Given the description of an element on the screen output the (x, y) to click on. 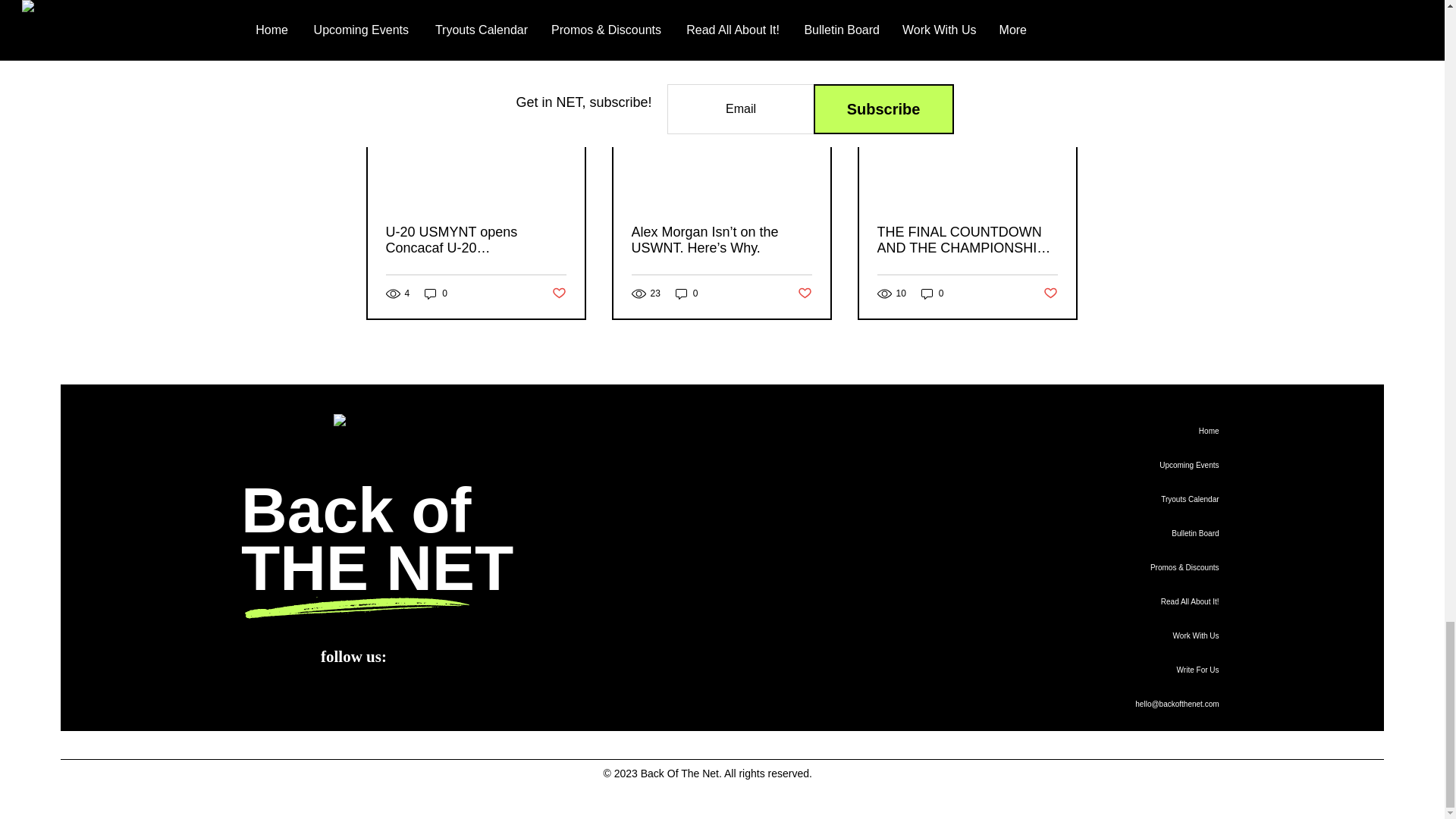
Post not marked as liked (804, 293)
Post not marked as liked (558, 293)
See All (1061, 56)
0 (435, 293)
0 (687, 293)
